Given the description of an element on the screen output the (x, y) to click on. 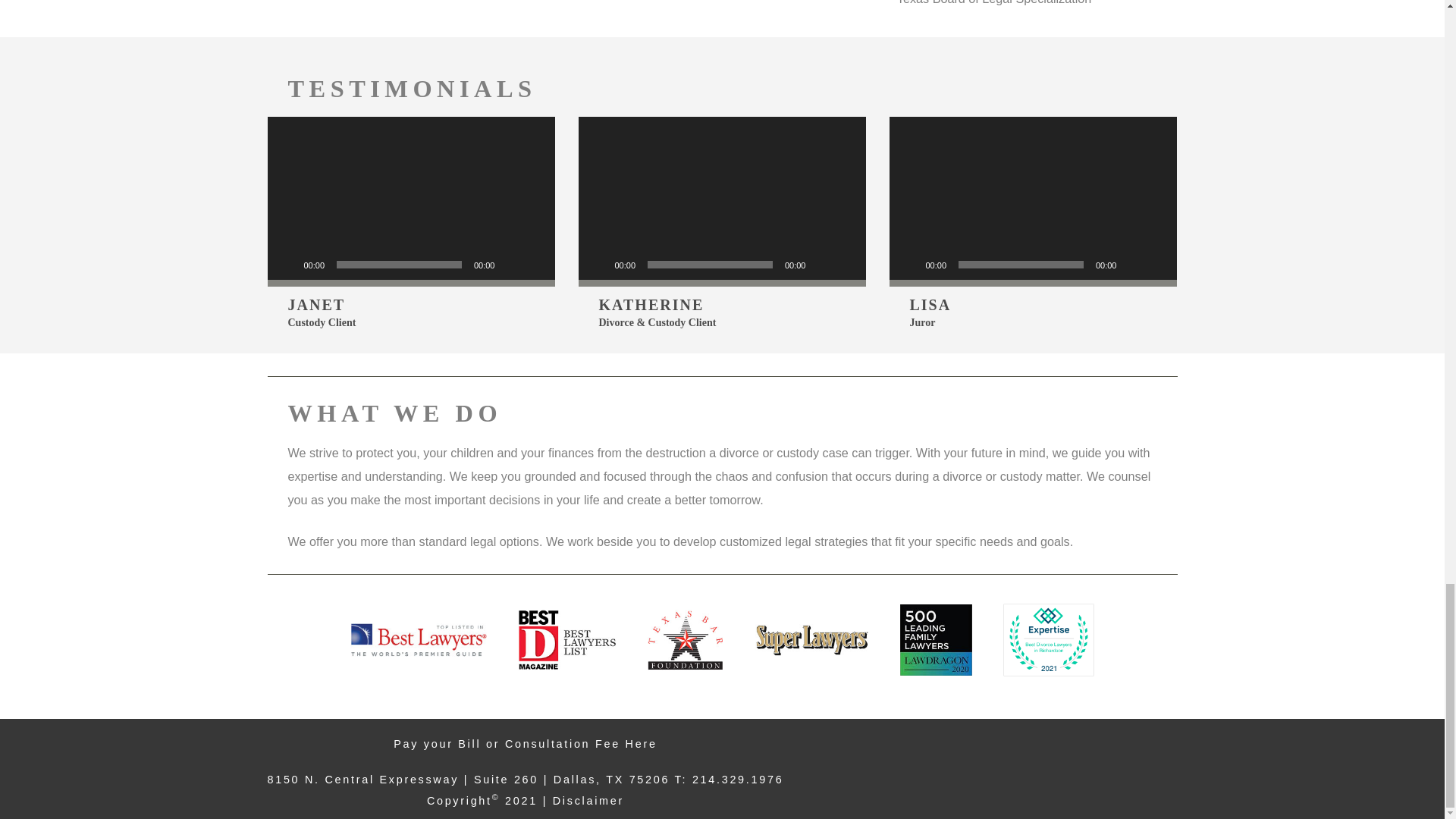
Play (908, 264)
Fullscreen (1157, 264)
Mute (821, 264)
Mute (510, 264)
Play (286, 264)
Mute (1132, 264)
Fullscreen (845, 264)
Fullscreen (535, 264)
Play (597, 264)
